Given the description of an element on the screen output the (x, y) to click on. 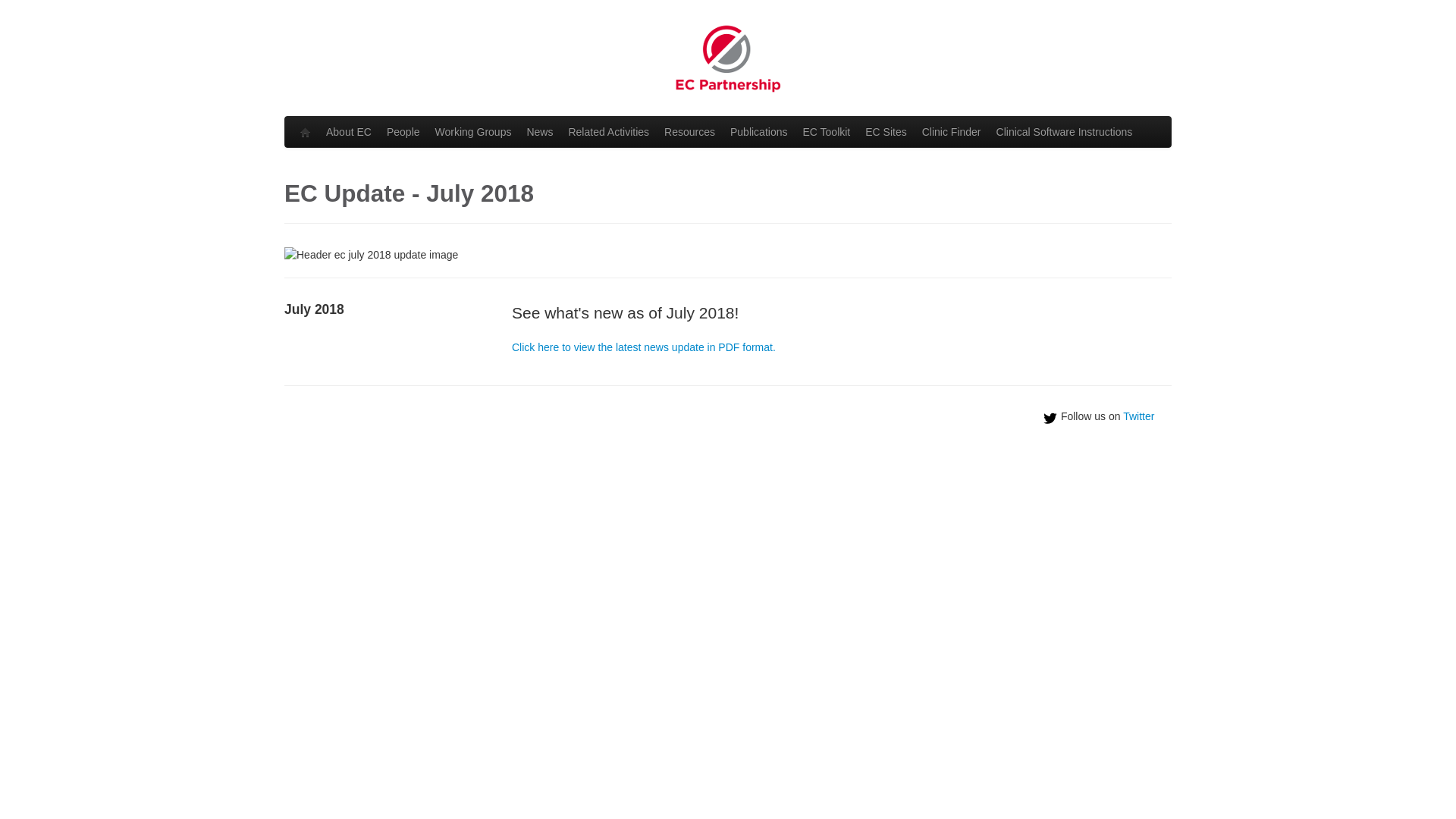
Resources Element type: text (689, 131)
About EC Element type: text (348, 131)
People Element type: text (403, 131)
Working Groups Element type: text (473, 131)
Home Element type: hover (305, 131)
Twitter Element type: text (1138, 416)
EC Sites Element type: text (885, 131)
Clinic Finder Element type: text (951, 131)
EC Toolkit Element type: text (825, 131)
Publications Element type: text (758, 131)
Clinical Software Instructions Element type: text (1064, 131)
Click here to view the latest news update in PDF format. Element type: text (643, 347)
Related Activities Element type: text (608, 131)
News Element type: text (539, 131)
